Given the description of an element on the screen output the (x, y) to click on. 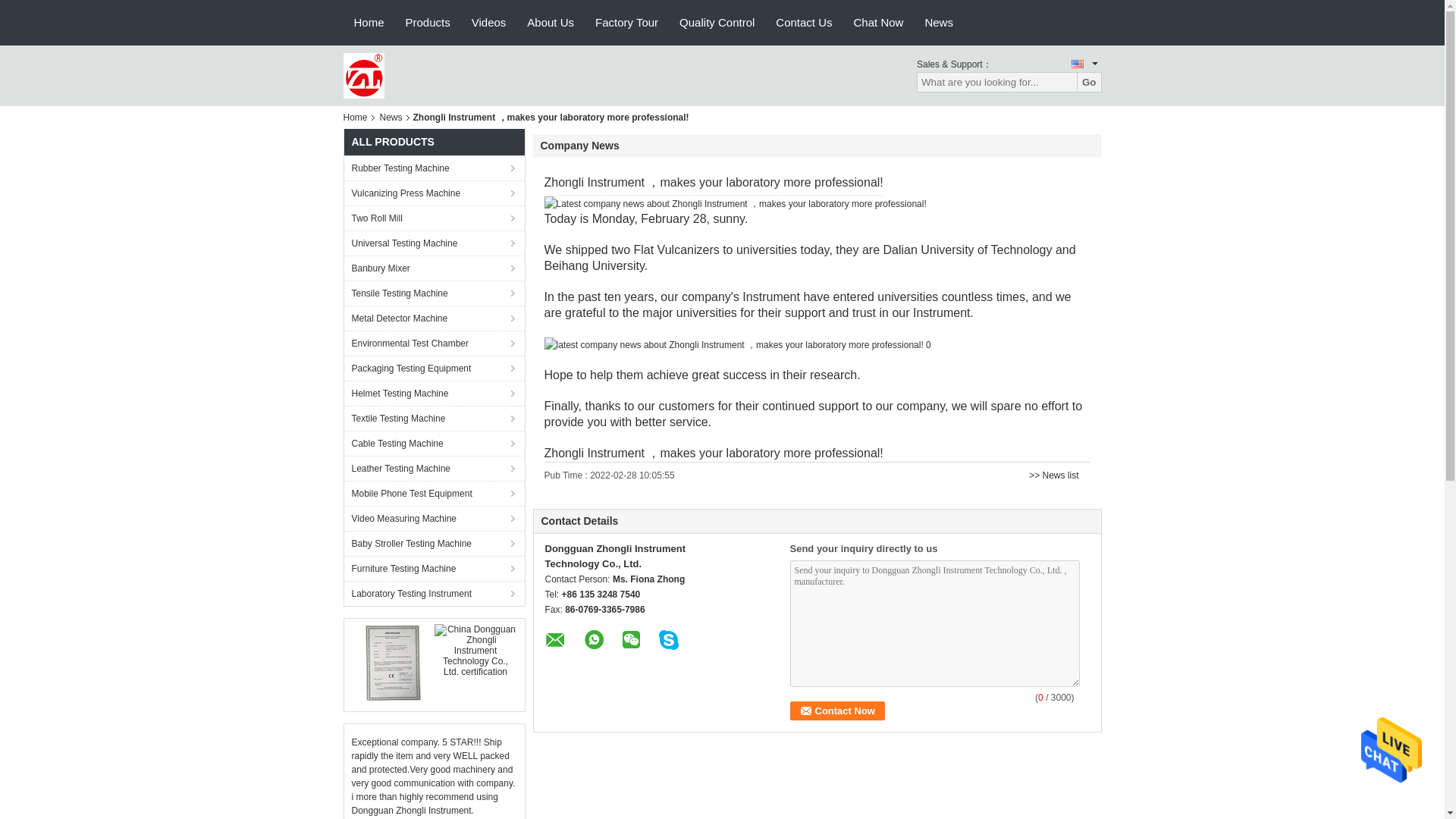
Dongguan Zhongli Instrument Technology Co., Ltd. (363, 74)
News (391, 117)
About Us (550, 22)
Products (427, 22)
Vulcanizing Press Machine (433, 192)
Home (368, 22)
Two Roll Mill (433, 217)
Banbury Mixer (433, 267)
Videos (488, 22)
Contact Us (804, 22)
Home (357, 117)
Tensile Testing Machine (433, 292)
Rubber Testing Machine (433, 167)
Quality Control (716, 22)
Universal Testing Machine (433, 242)
